Given the description of an element on the screen output the (x, y) to click on. 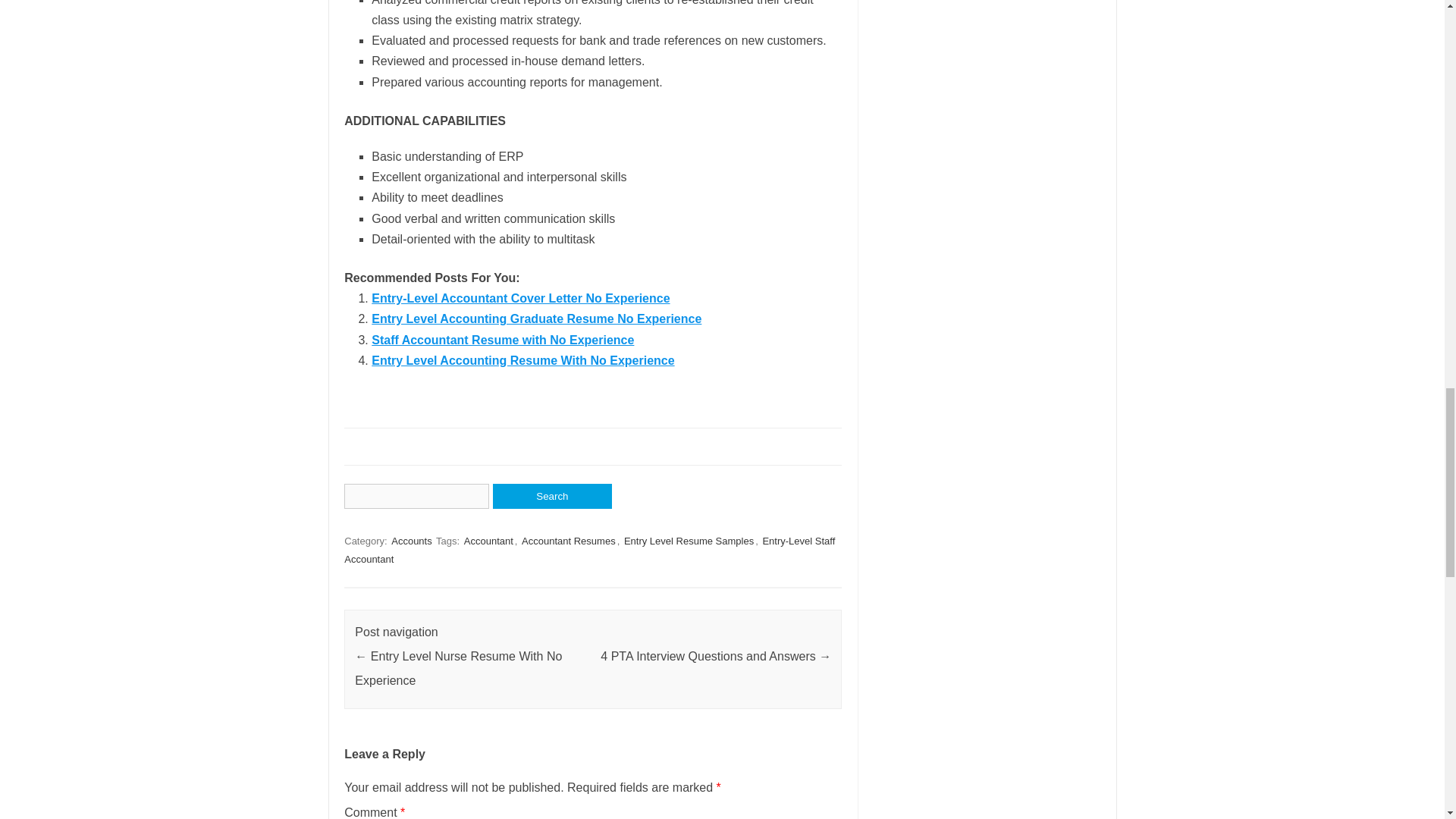
Accountant Resumes (568, 540)
Accounts (411, 540)
Entry Level Accounting Resume With No Experience (522, 359)
Entry-Level Accountant Cover Letter No Experience (520, 297)
Entry Level Accounting Graduate Resume No Experience (536, 318)
Staff Accountant Resume with No Experience (502, 339)
Accountant (489, 540)
Entry-Level Staff Accountant (588, 549)
Entry-Level Accountant Cover Letter No Experience (520, 297)
Entry Level Accounting Graduate Resume No Experience (536, 318)
Search (552, 496)
Staff Accountant Resume with No Experience (502, 339)
Entry Level Resume Samples (689, 540)
Entry Level Accounting Resume With No Experience (522, 359)
Search (552, 496)
